Given the description of an element on the screen output the (x, y) to click on. 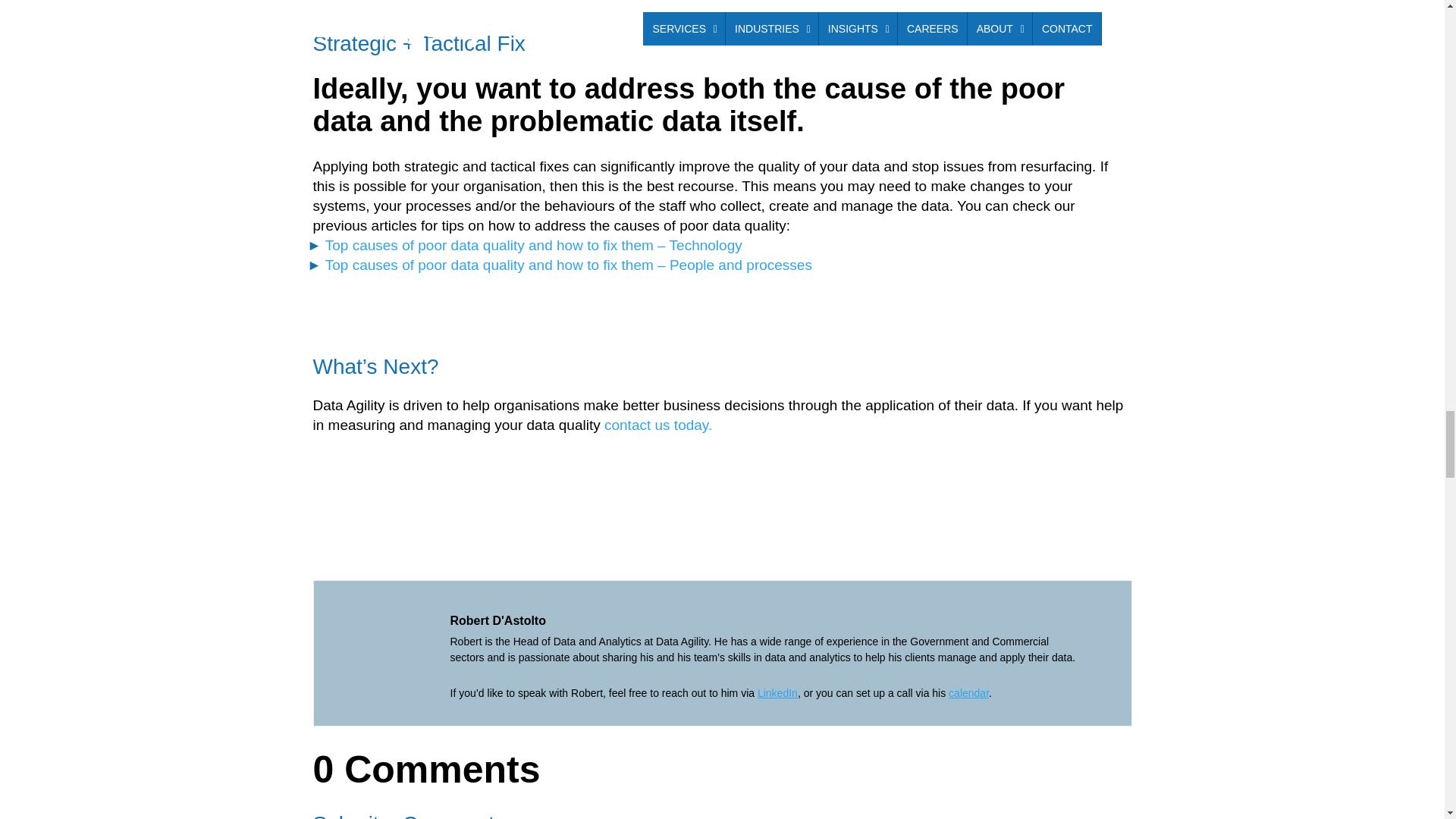
Robert D'Astolto (497, 620)
contact us today. (657, 424)
LinkedIn (777, 693)
calendar (968, 693)
